Given the description of an element on the screen output the (x, y) to click on. 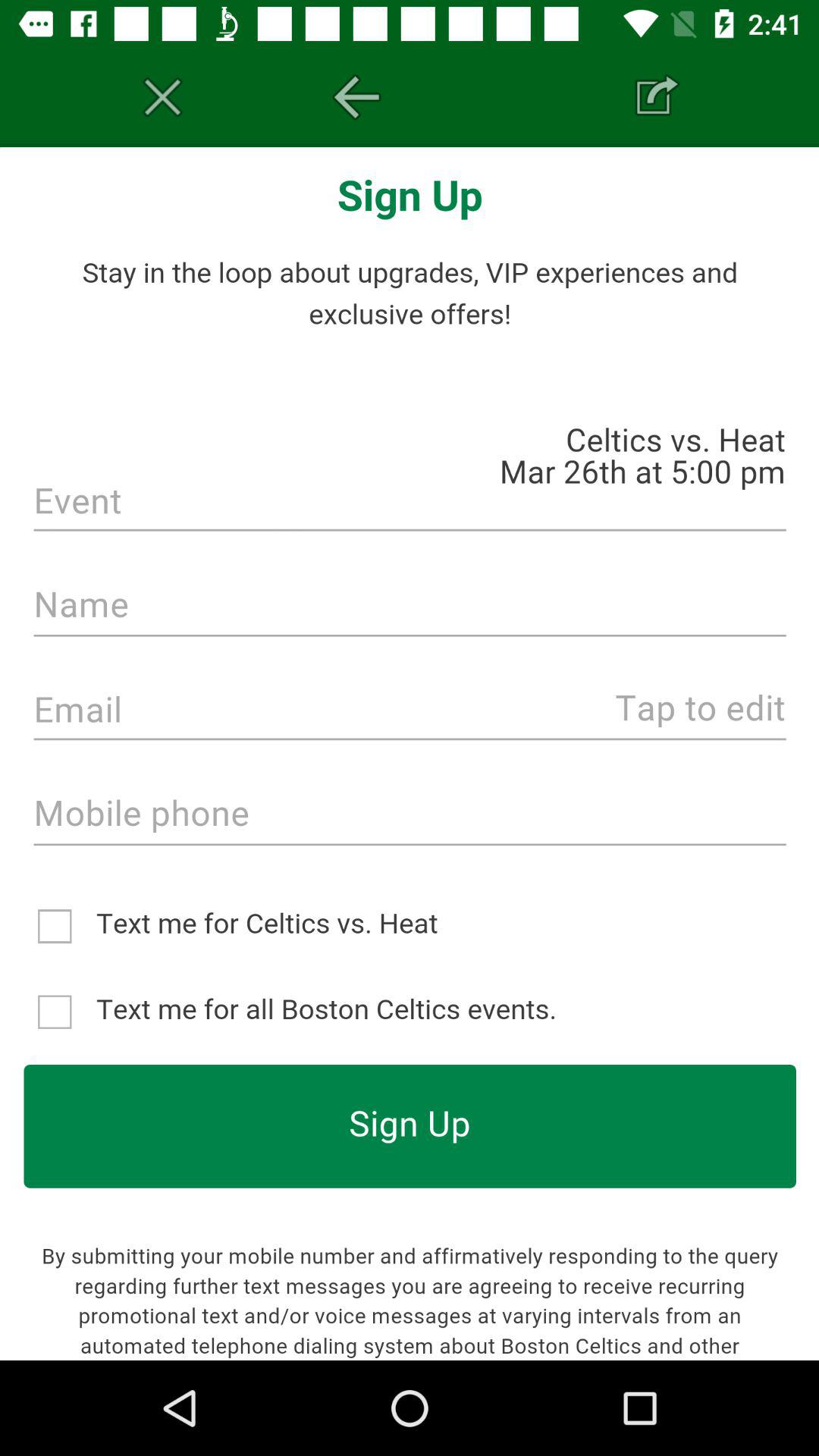
go back (356, 97)
